Given the description of an element on the screen output the (x, y) to click on. 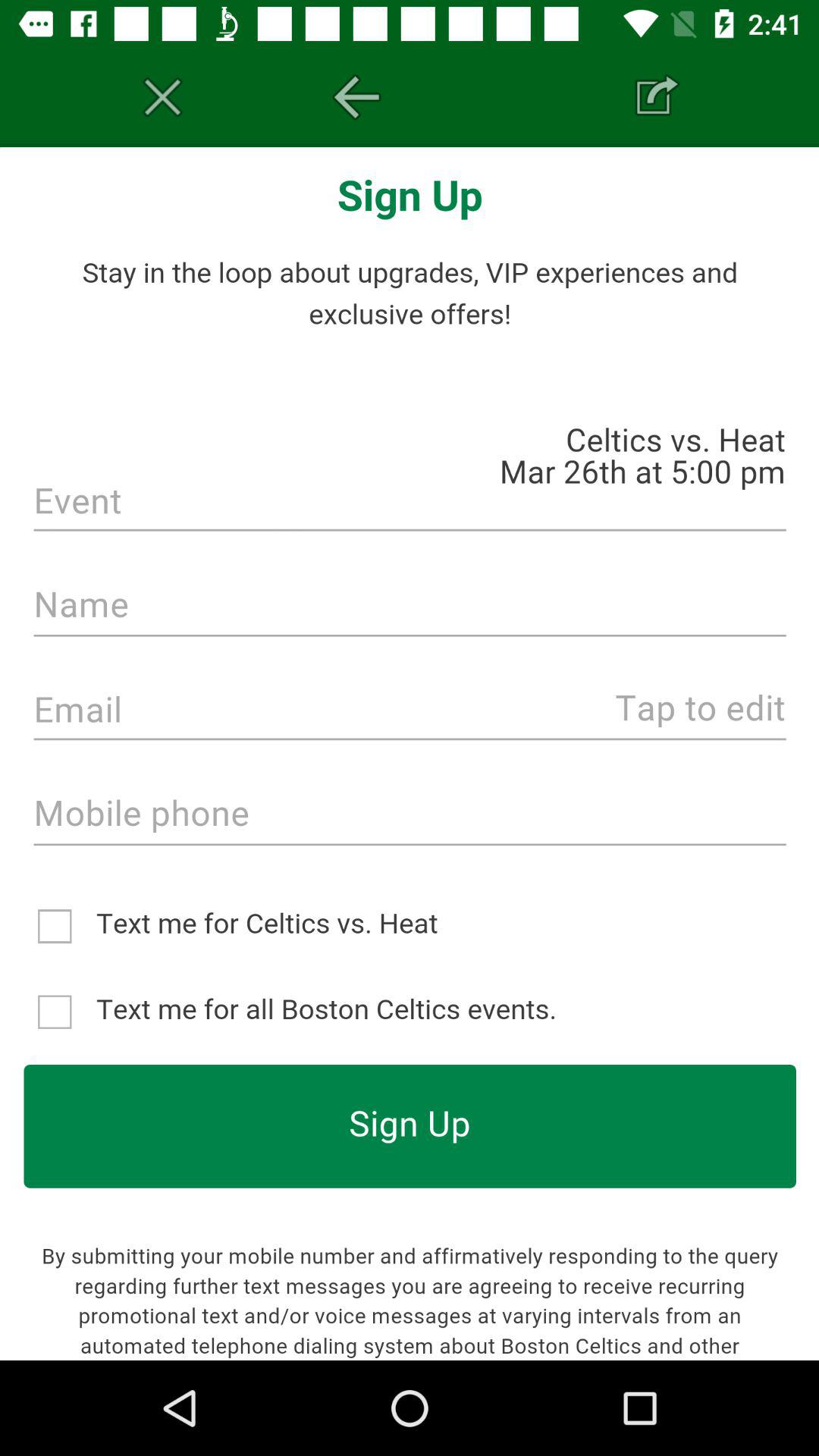
go back (356, 97)
